Given the description of an element on the screen output the (x, y) to click on. 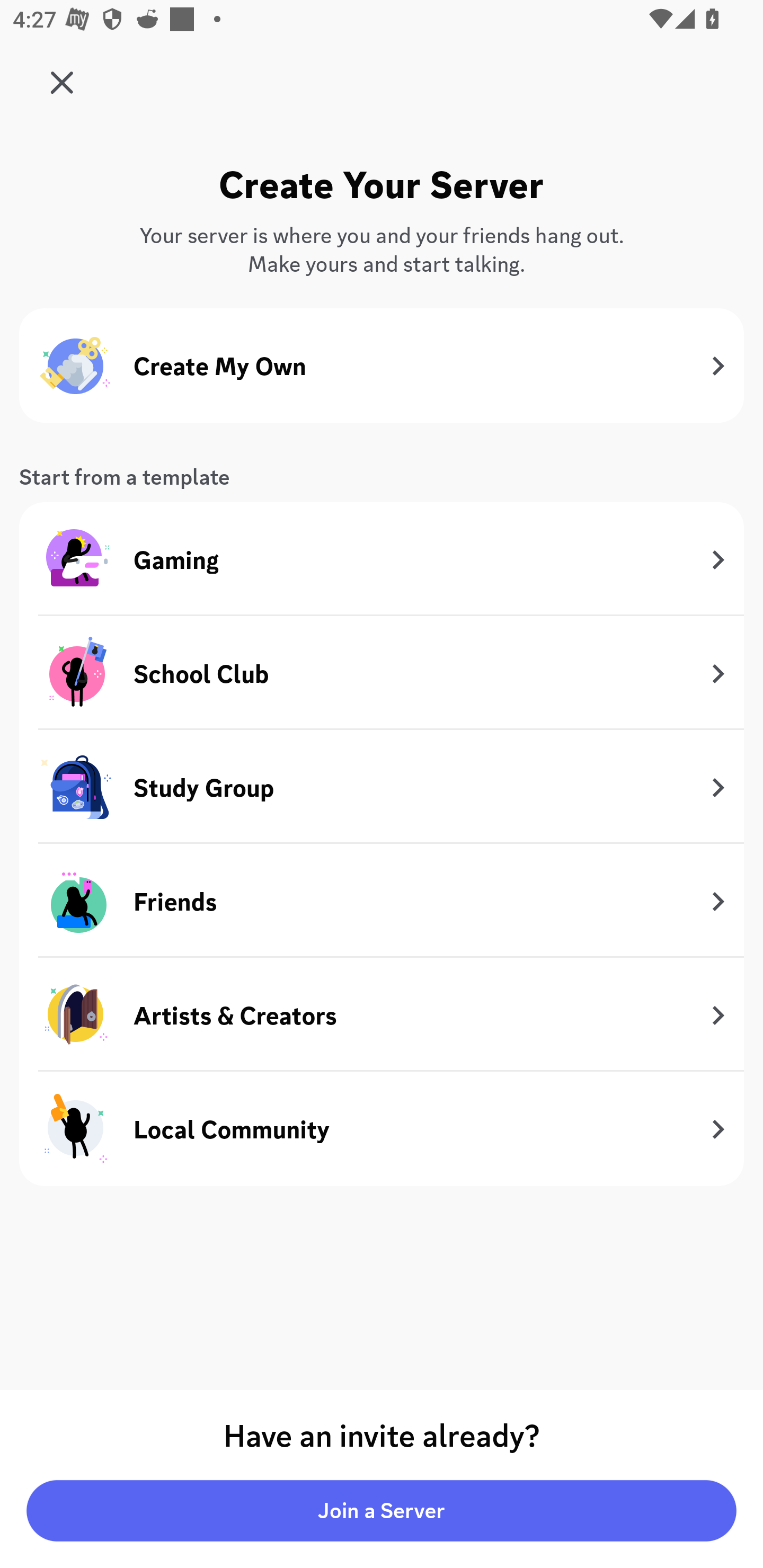
  Friends F (66, 75)
Create My Own (381, 365)
Gaming (381, 558)
School Club (381, 673)
Study Group (381, 787)
Friends (381, 900)
Artists & Creators (381, 1015)
Local Community (381, 1127)
Join a Server (381, 1510)
